Given the description of an element on the screen output the (x, y) to click on. 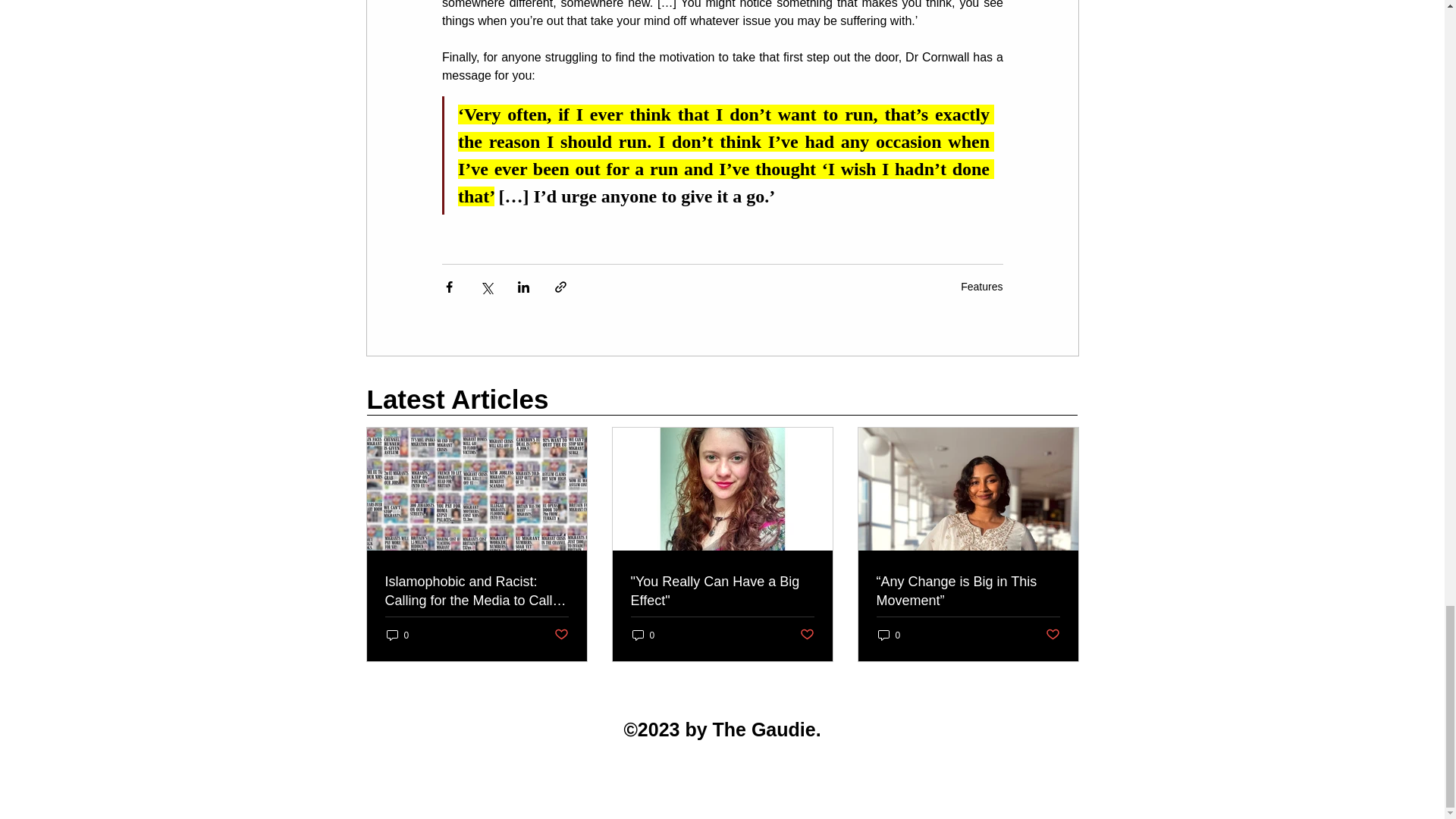
Post not marked as liked (806, 634)
Features (981, 286)
Post not marked as liked (1052, 634)
0 (397, 635)
Post not marked as liked (560, 634)
0 (889, 635)
"You Really Can Have a Big Effect" (721, 591)
0 (643, 635)
